Given the description of an element on the screen output the (x, y) to click on. 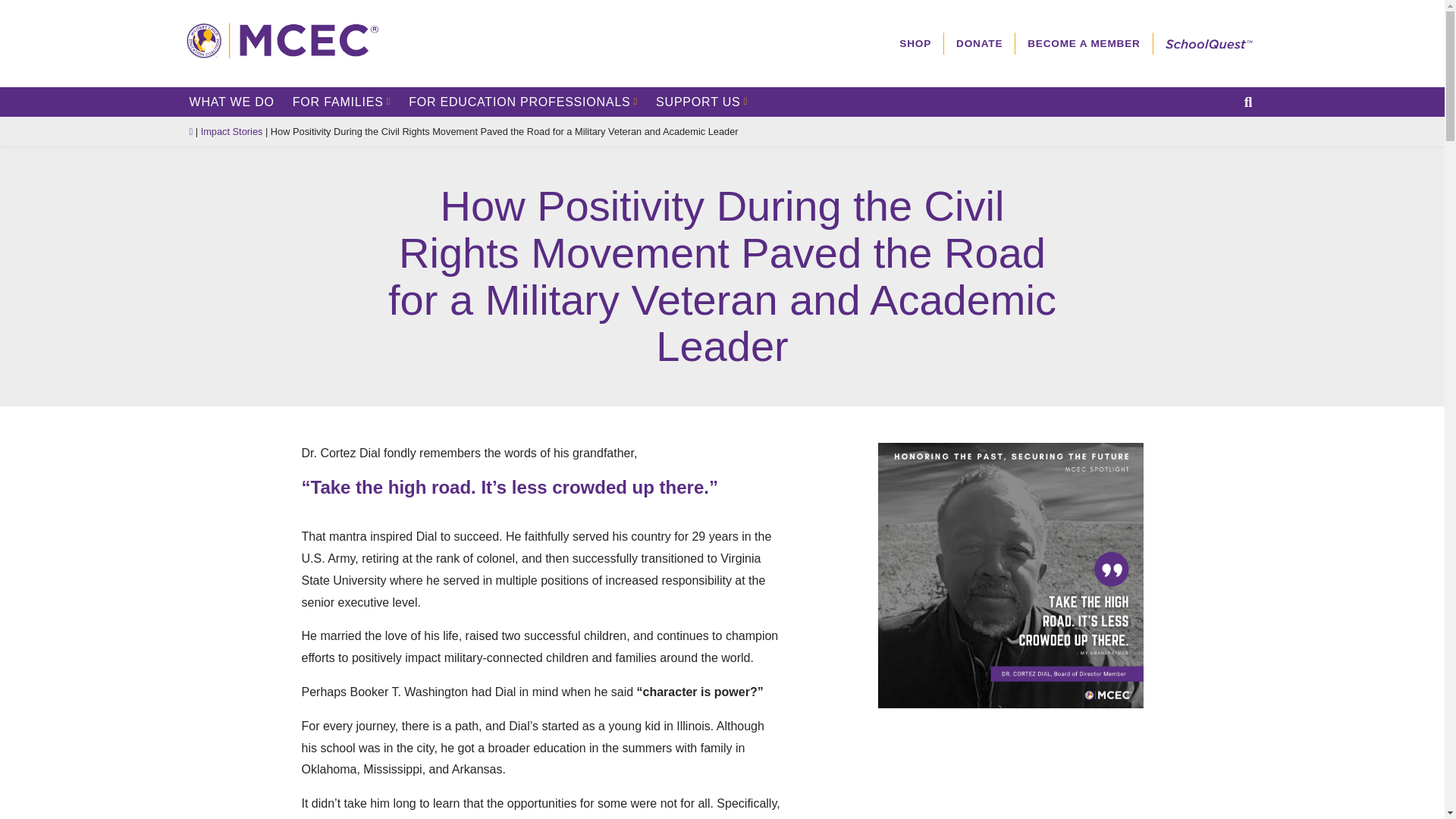
WHAT WE DO (231, 101)
SHOP (914, 43)
BECOME A MEMBER (1082, 43)
FOR FAMILIES (340, 101)
DONATE (978, 43)
FOR EDUCATION PROFESSIONALS (522, 101)
SUPPORT US (701, 101)
